Given the description of an element on the screen output the (x, y) to click on. 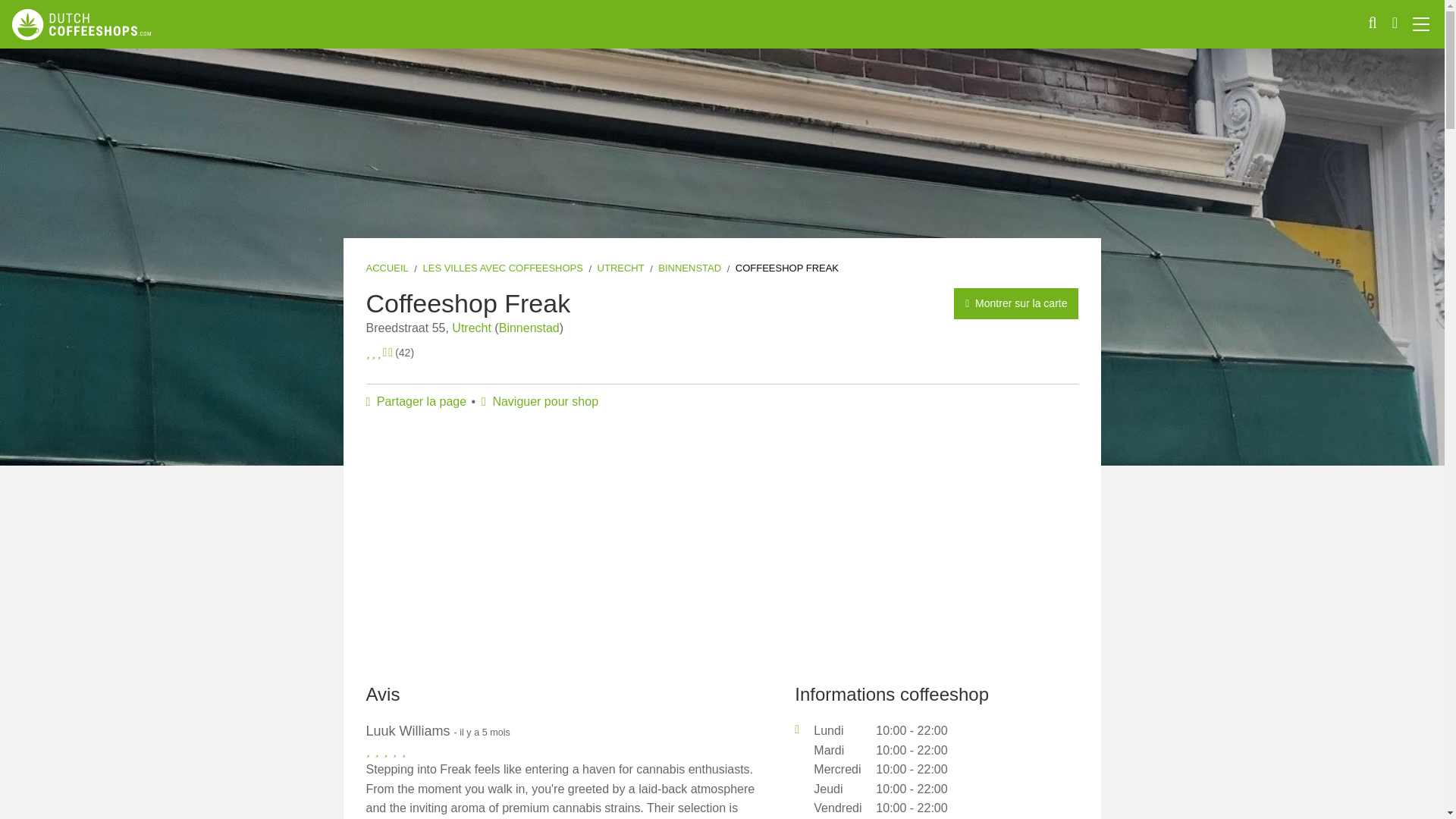
Partager la page (415, 400)
Naviguer pour shop (539, 400)
Partager la page (415, 400)
Utrecht (471, 327)
LES VILLES AVEC COFFEESHOPS (502, 267)
  Montrer sur la carte (1015, 303)
Binnenstad (529, 327)
UTRECHT (620, 267)
BINNENSTAD (689, 267)
ACCUEIL (386, 267)
